Given the description of an element on the screen output the (x, y) to click on. 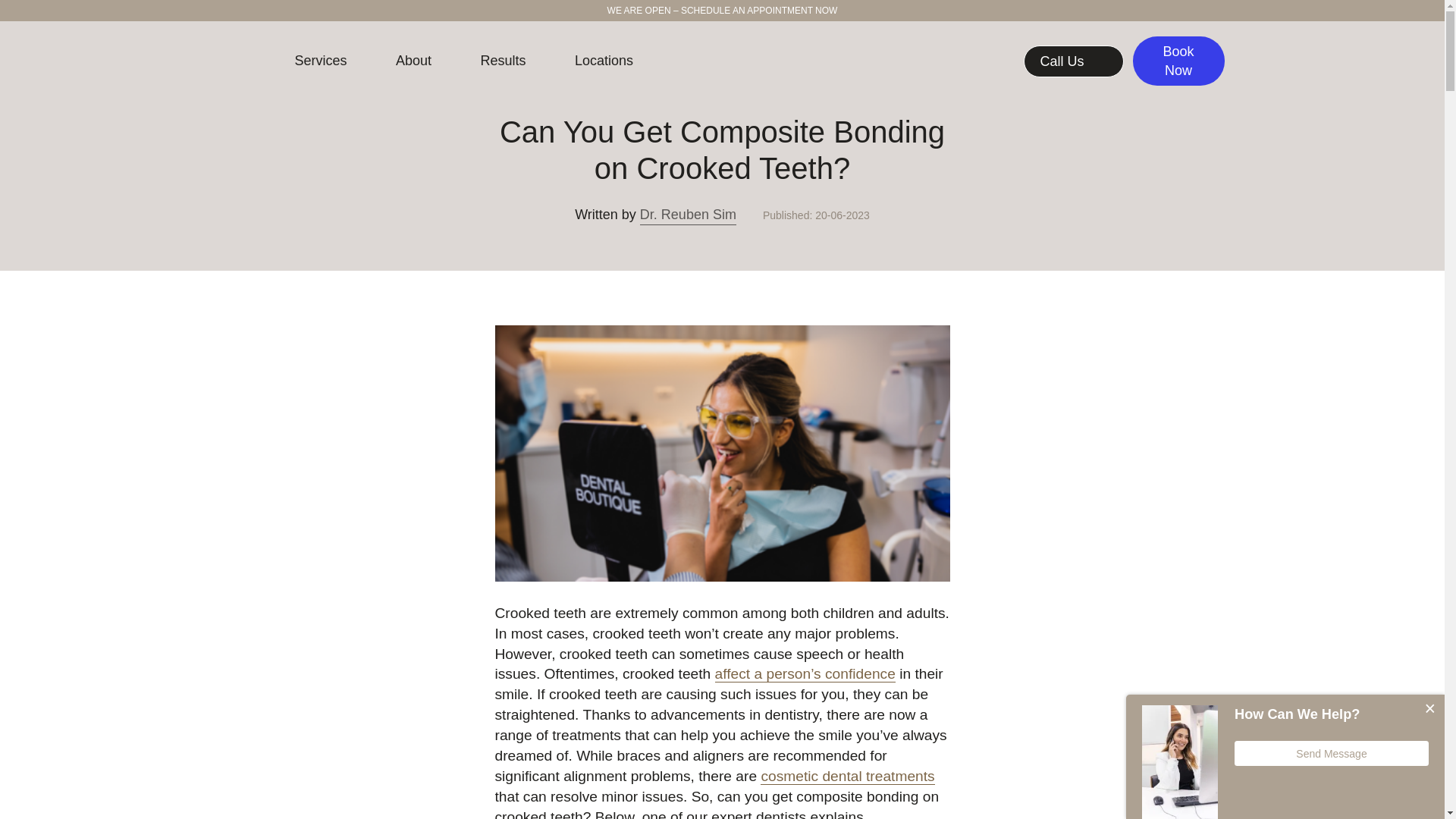
Results (502, 60)
About (413, 60)
Back to home (233, 60)
Book Now (1178, 60)
Services (320, 60)
